Given the description of an element on the screen output the (x, y) to click on. 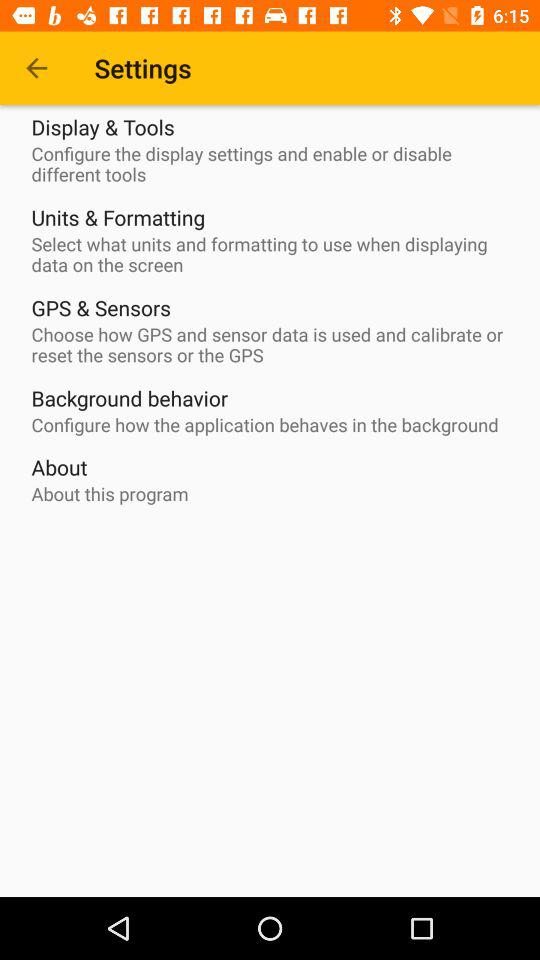
jump until select what units icon (275, 254)
